Given the description of an element on the screen output the (x, y) to click on. 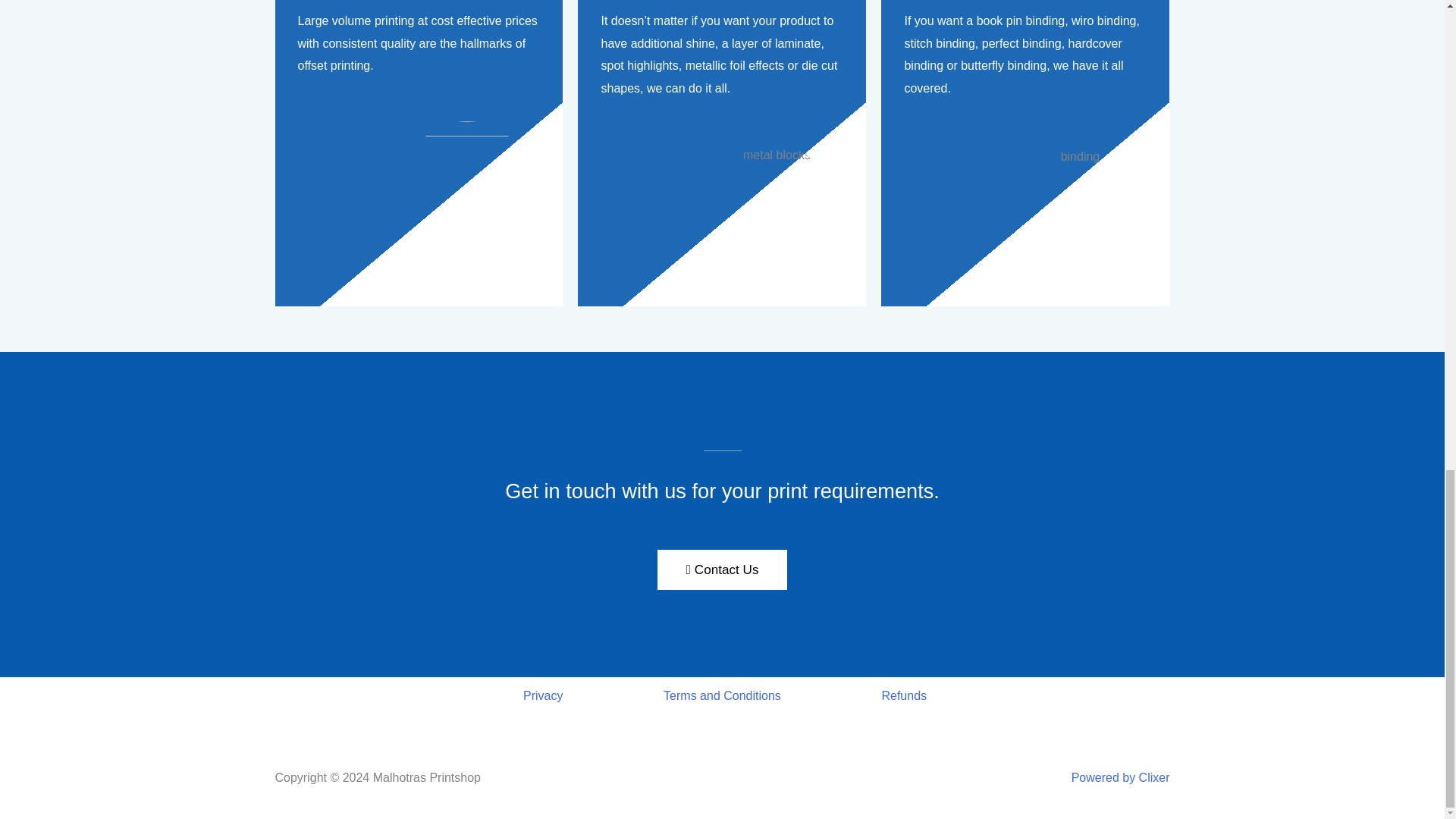
Contact Us (721, 569)
Powered by Clixer (1120, 777)
Privacy (542, 695)
Refunds (903, 695)
Terms and Conditions (721, 695)
